Given the description of an element on the screen output the (x, y) to click on. 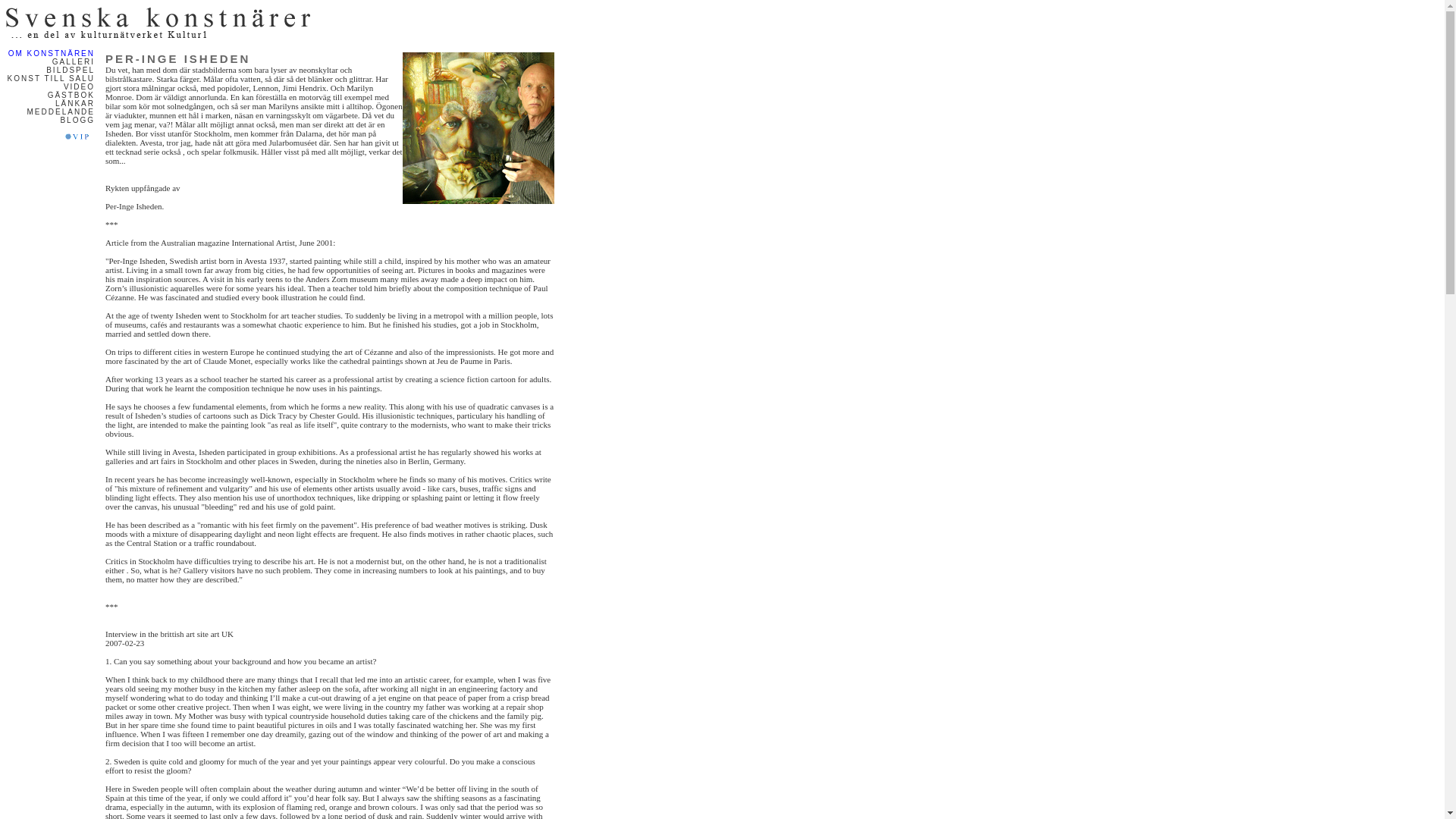
BILDSPEL (70, 70)
KONST TILL SALU (50, 78)
MEDDELANDE (60, 111)
Svenska konstnarer VIP konst (79, 136)
Konst till salu (50, 78)
VIDEO (79, 86)
Svensk konst blogg (76, 120)
GALLERI (73, 61)
BLOGG (76, 120)
Bildspel (70, 70)
